Given the description of an element on the screen output the (x, y) to click on. 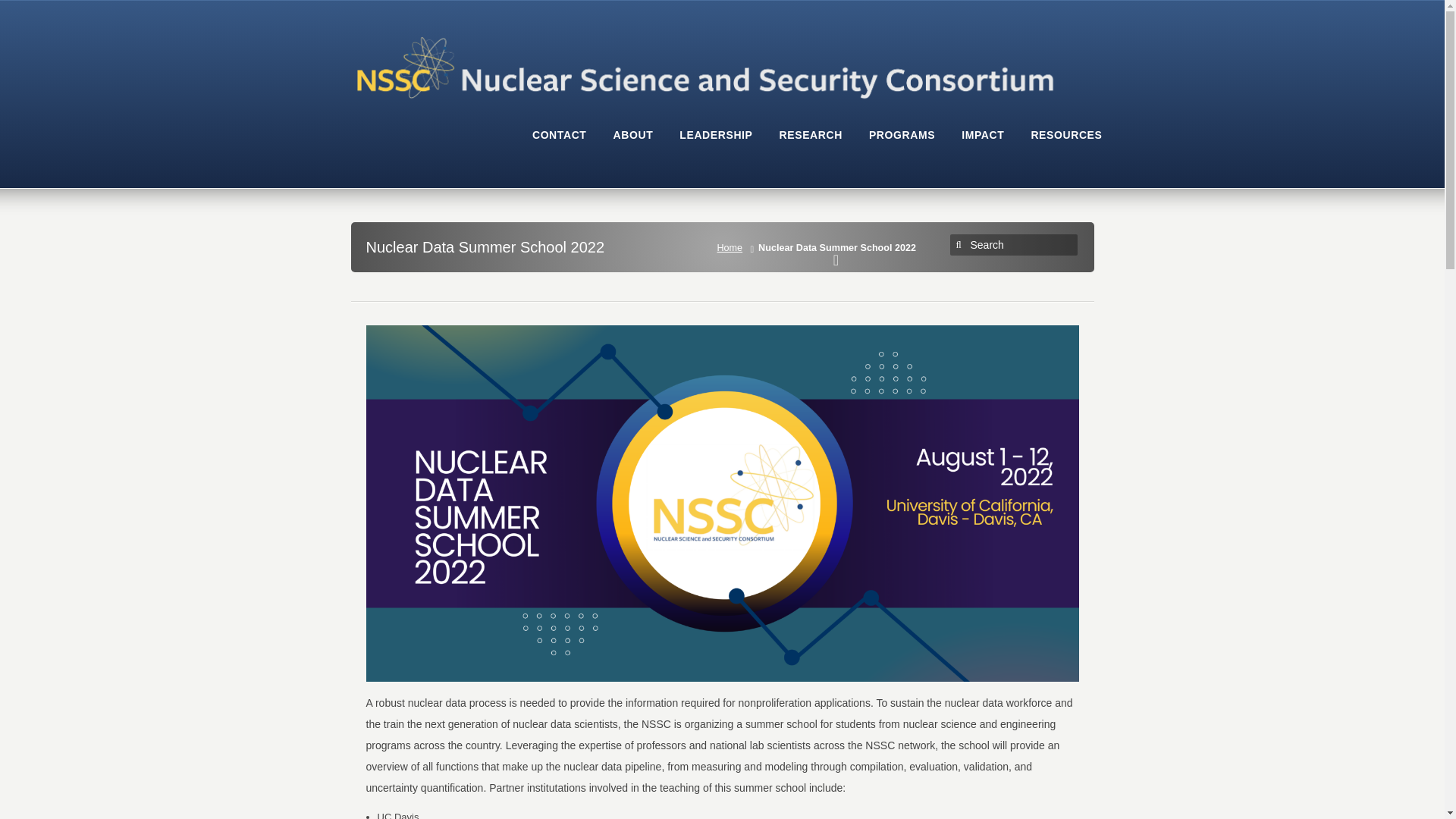
Search (1016, 244)
RESOURCES (1066, 142)
RESEARCH (810, 142)
LEADERSHIP (715, 142)
PROGRAMS (901, 142)
IMPACT (982, 142)
Home (732, 247)
CONTACT (559, 142)
ABOUT (632, 142)
